Given the description of an element on the screen output the (x, y) to click on. 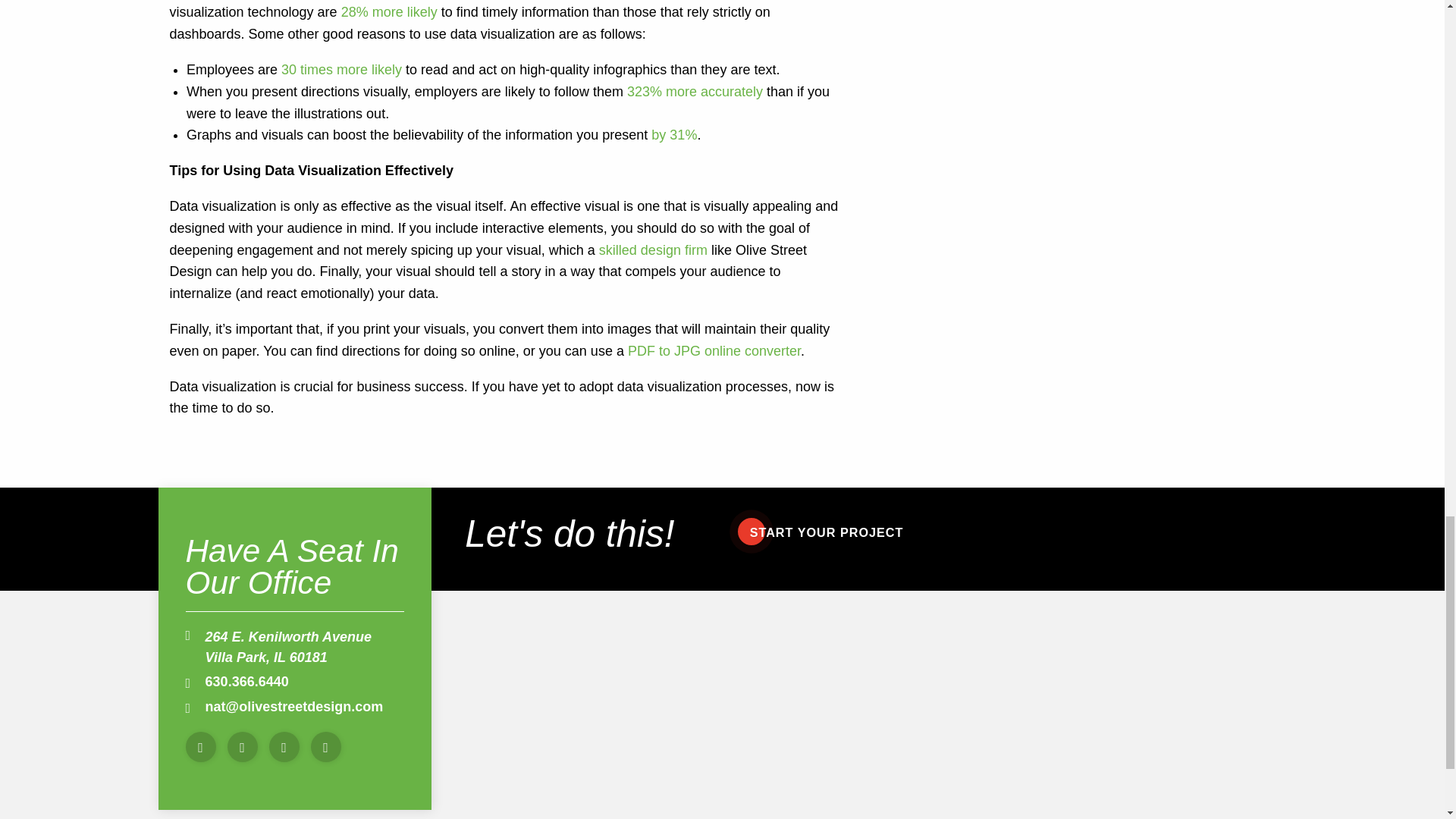
Visit us on YouTube (325, 747)
Visit us on Facebook (199, 747)
PDF to JPG online converter (713, 350)
30 times more likely (341, 69)
Visit us on Twitter (242, 747)
skilled design firm (652, 249)
Visit us on Instagram (284, 747)
